Given the description of an element on the screen output the (x, y) to click on. 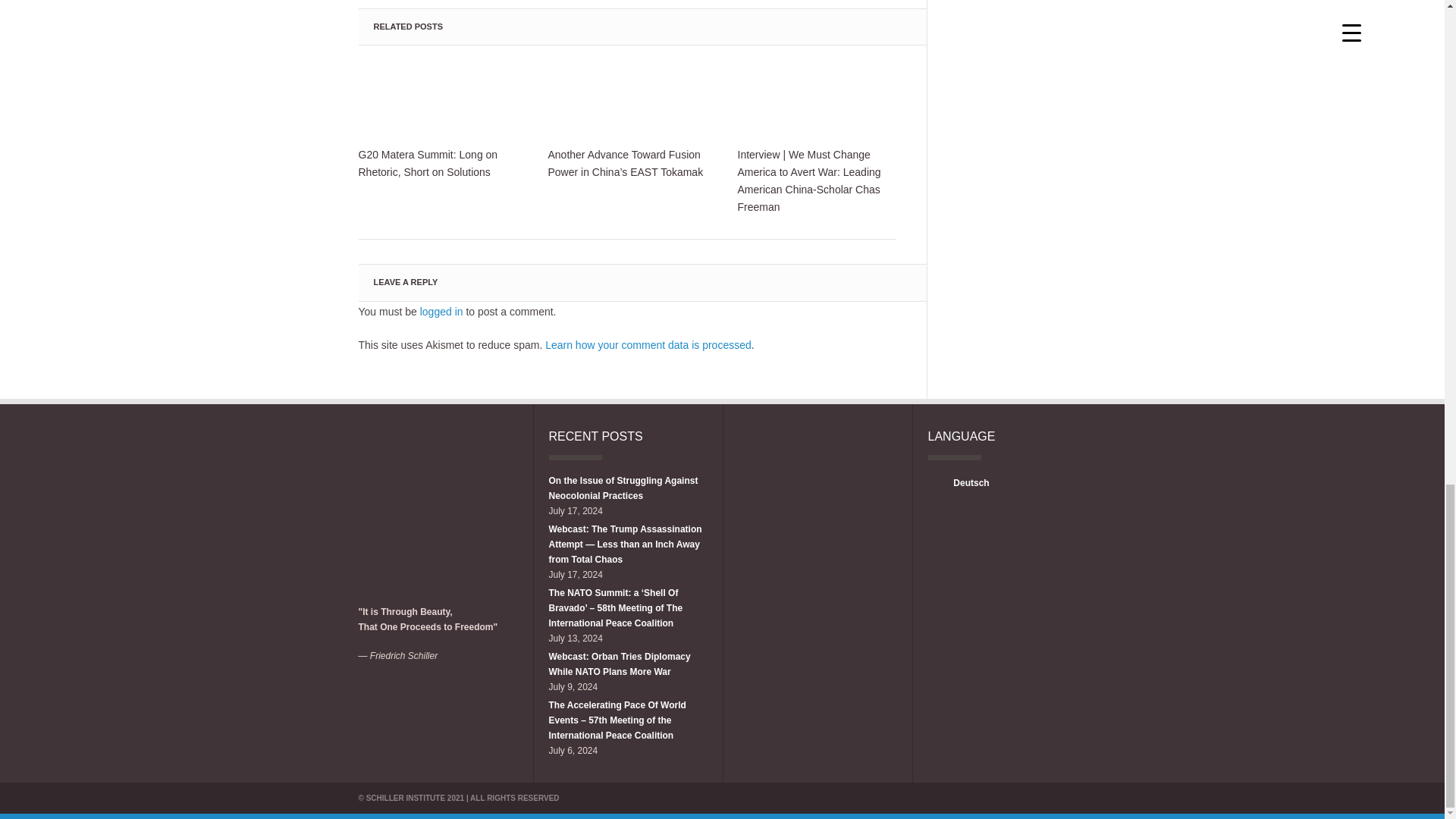
G20 Matera Summit: Long on Rhetoric, Short on Solutions (437, 163)
G20 Matera Summit: Long on Rhetoric, Short on Solutions (437, 100)
